Given the description of an element on the screen output the (x, y) to click on. 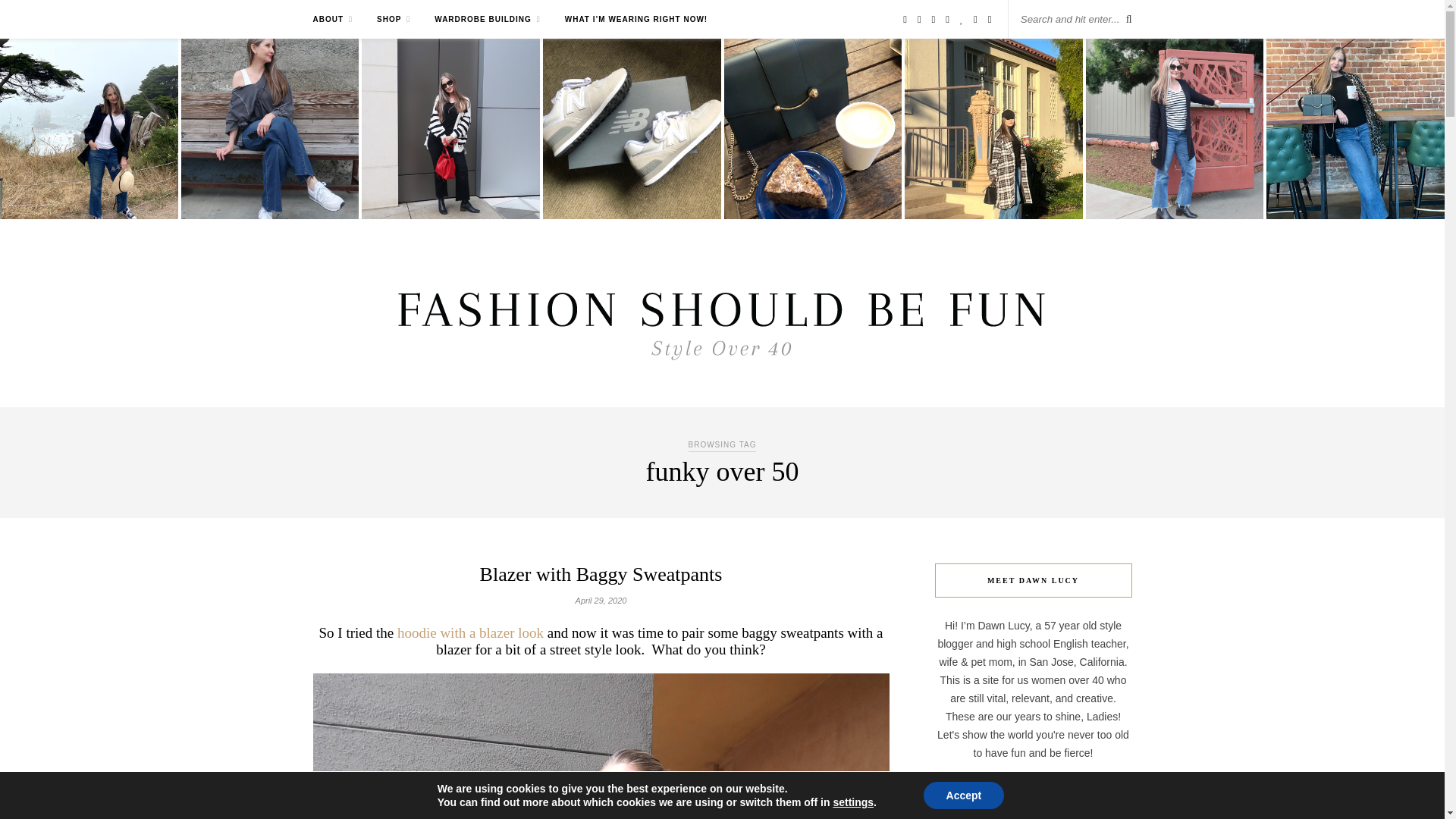
ABOUT (332, 19)
WARDROBE BUILDING (486, 19)
